Given the description of an element on the screen output the (x, y) to click on. 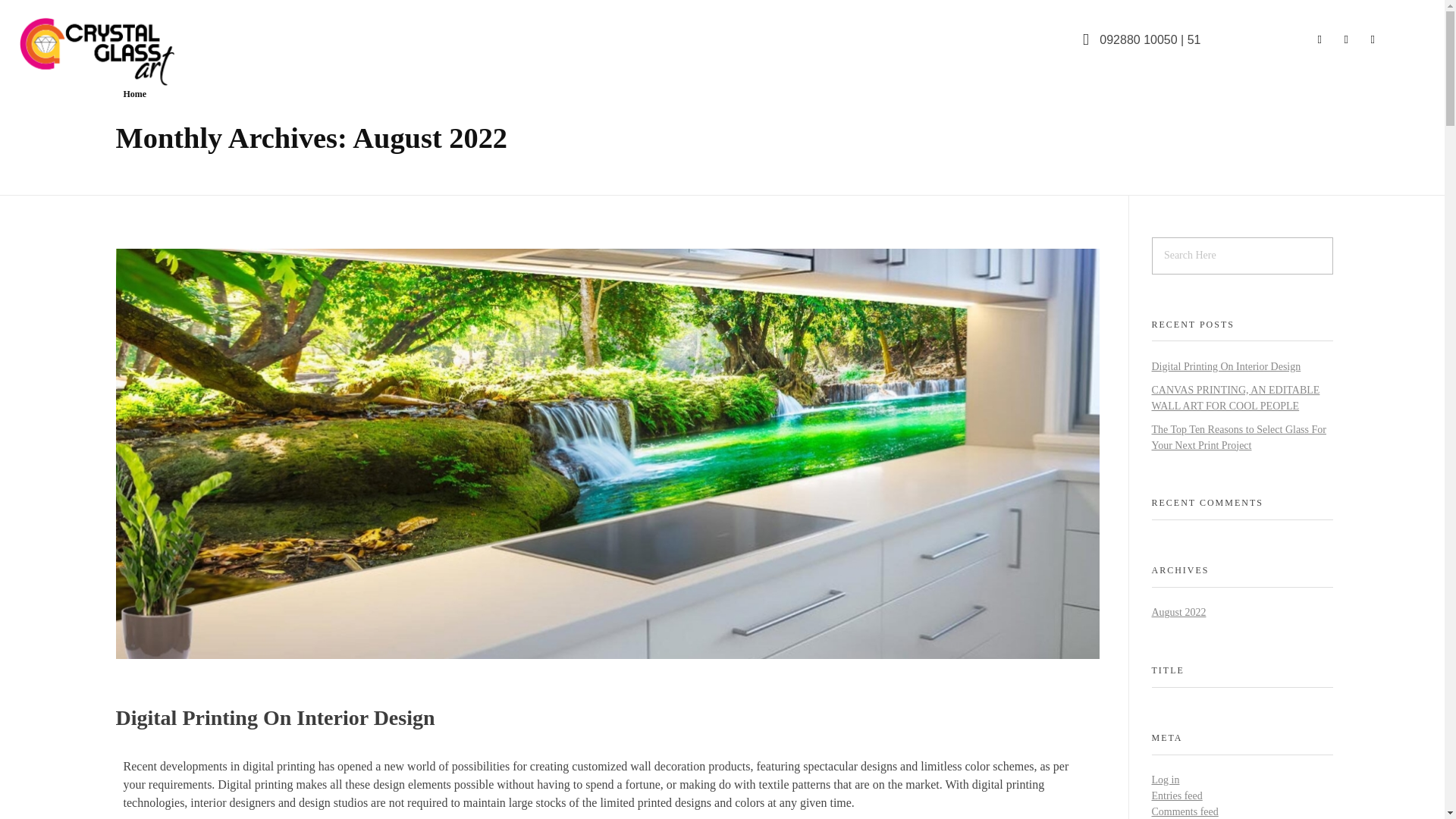
Crystal glass art (83, 97)
Home (134, 93)
Digital Printing On Interior Design (274, 717)
Crystal glass art (121, 50)
Home (134, 93)
Crystal glass art (83, 97)
